Given the description of an element on the screen output the (x, y) to click on. 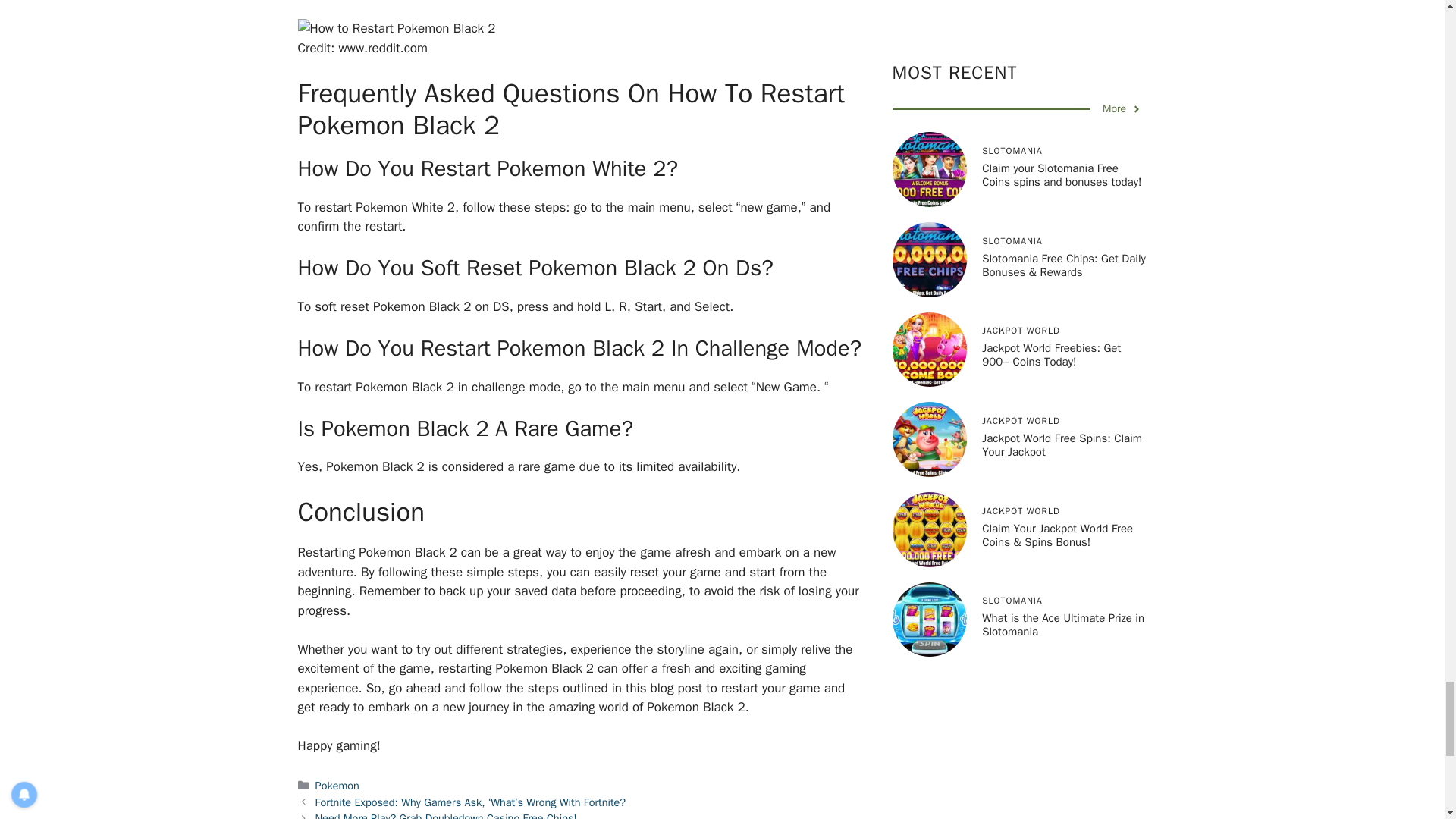
Need More Play? Grab Doubledown Casino Free Chips! (445, 815)
Pokemon (337, 785)
